Given the description of an element on the screen output the (x, y) to click on. 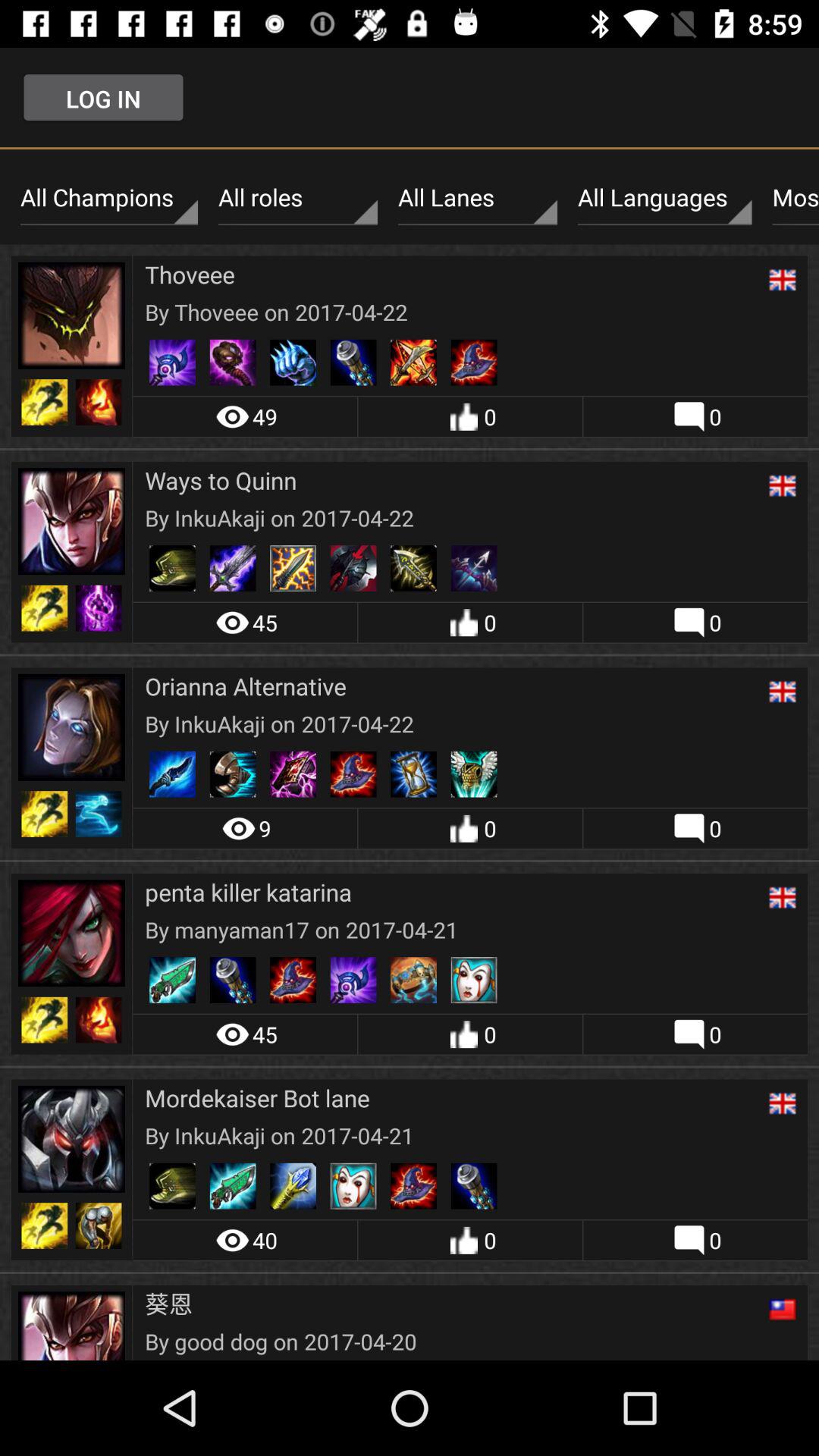
jump to most recent icon (791, 198)
